Given the description of an element on the screen output the (x, y) to click on. 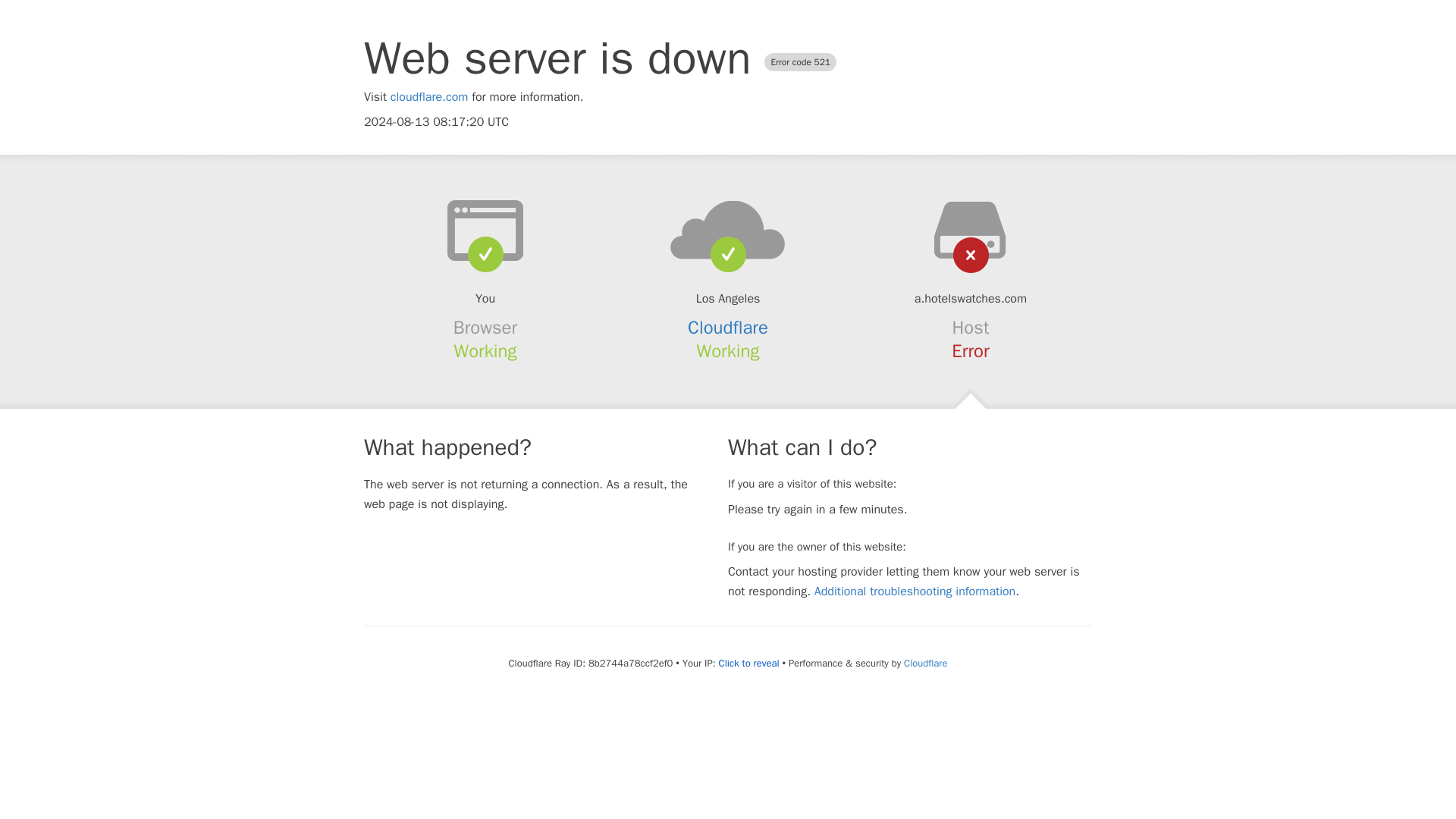
Cloudflare (925, 662)
cloudflare.com (429, 96)
Additional troubleshooting information (913, 590)
Click to reveal (748, 663)
Cloudflare (727, 327)
